Given the description of an element on the screen output the (x, y) to click on. 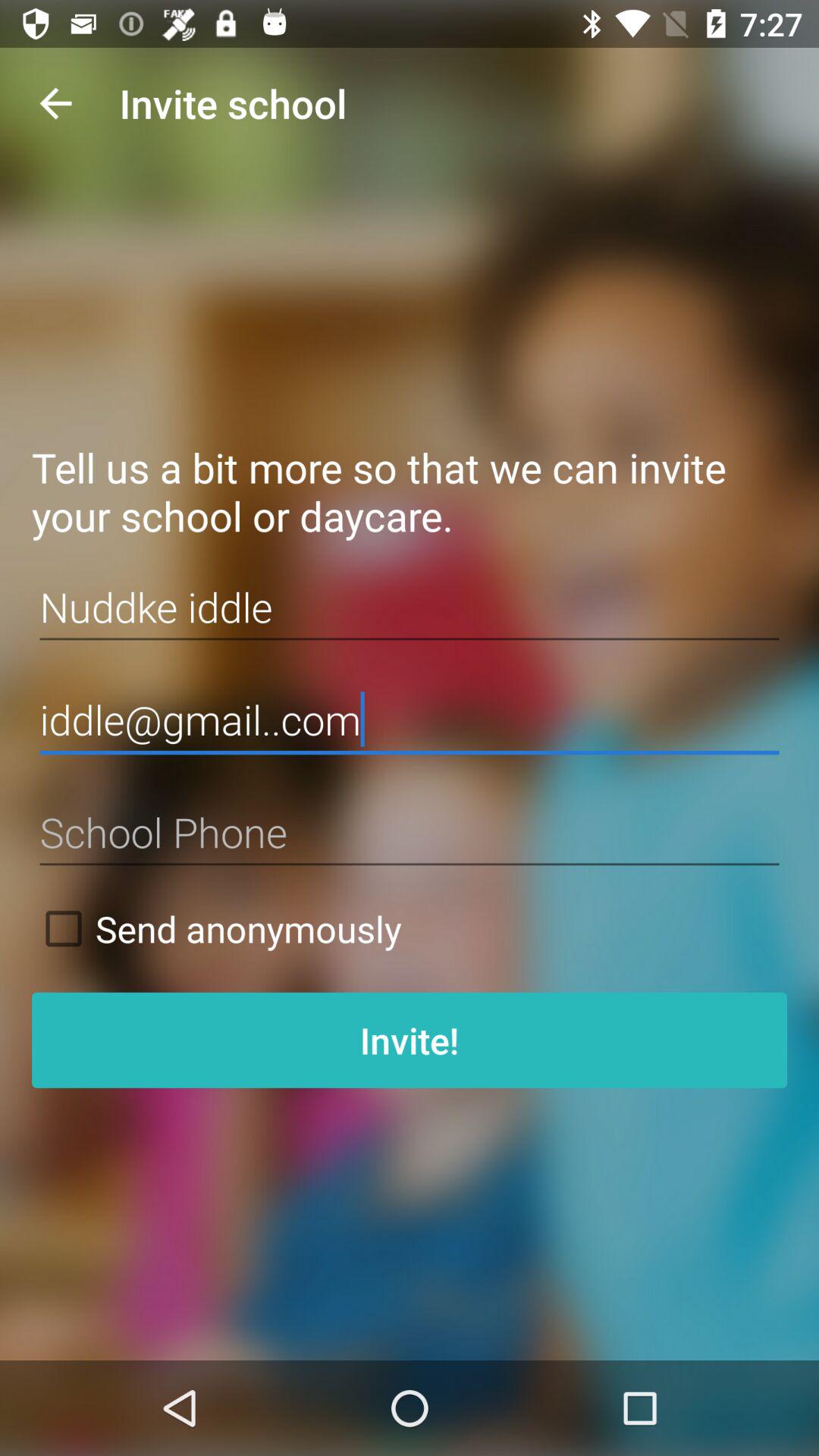
enter info (409, 832)
